Given the description of an element on the screen output the (x, y) to click on. 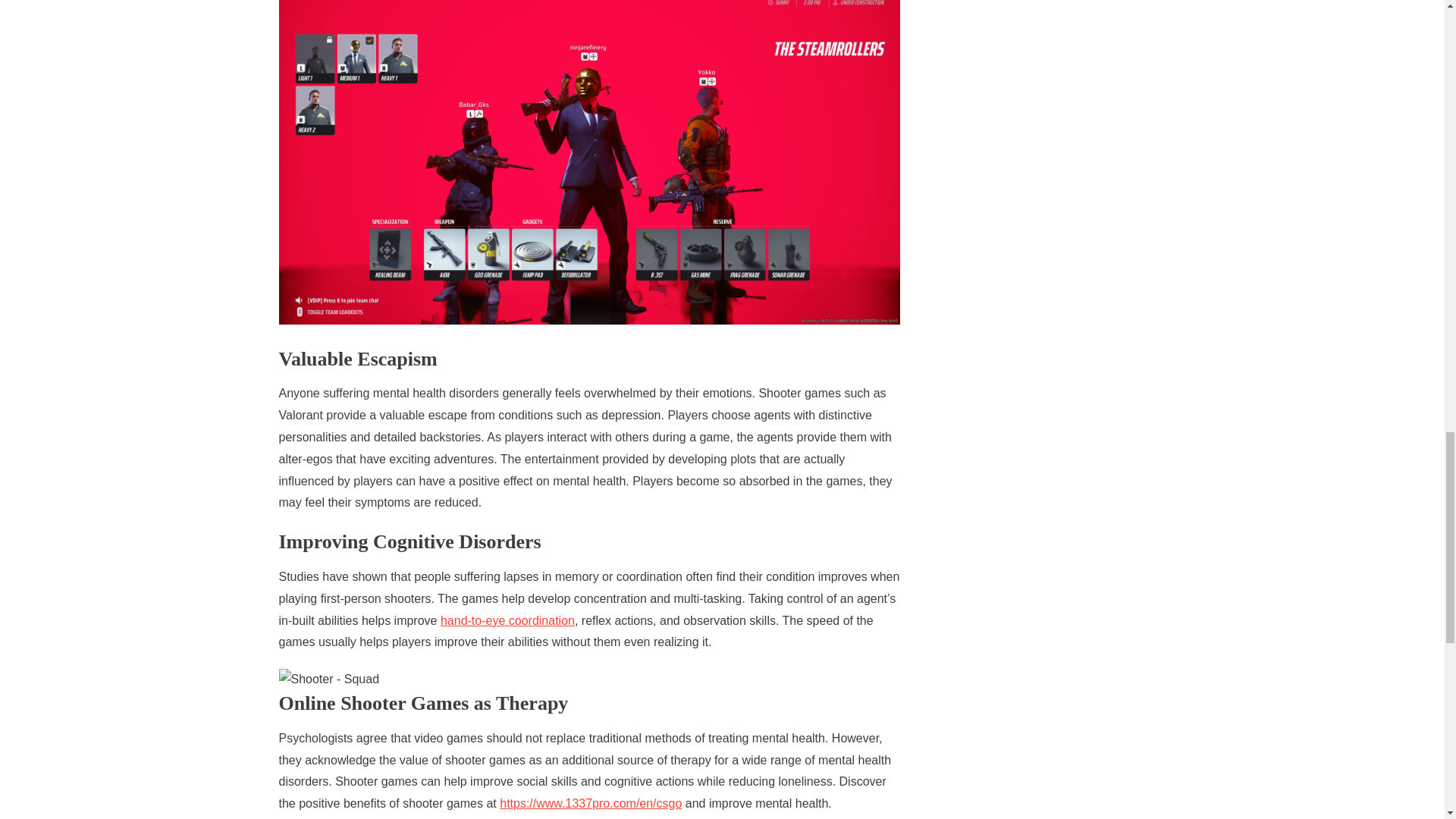
hand-to-eye coordination (508, 620)
